Given the description of an element on the screen output the (x, y) to click on. 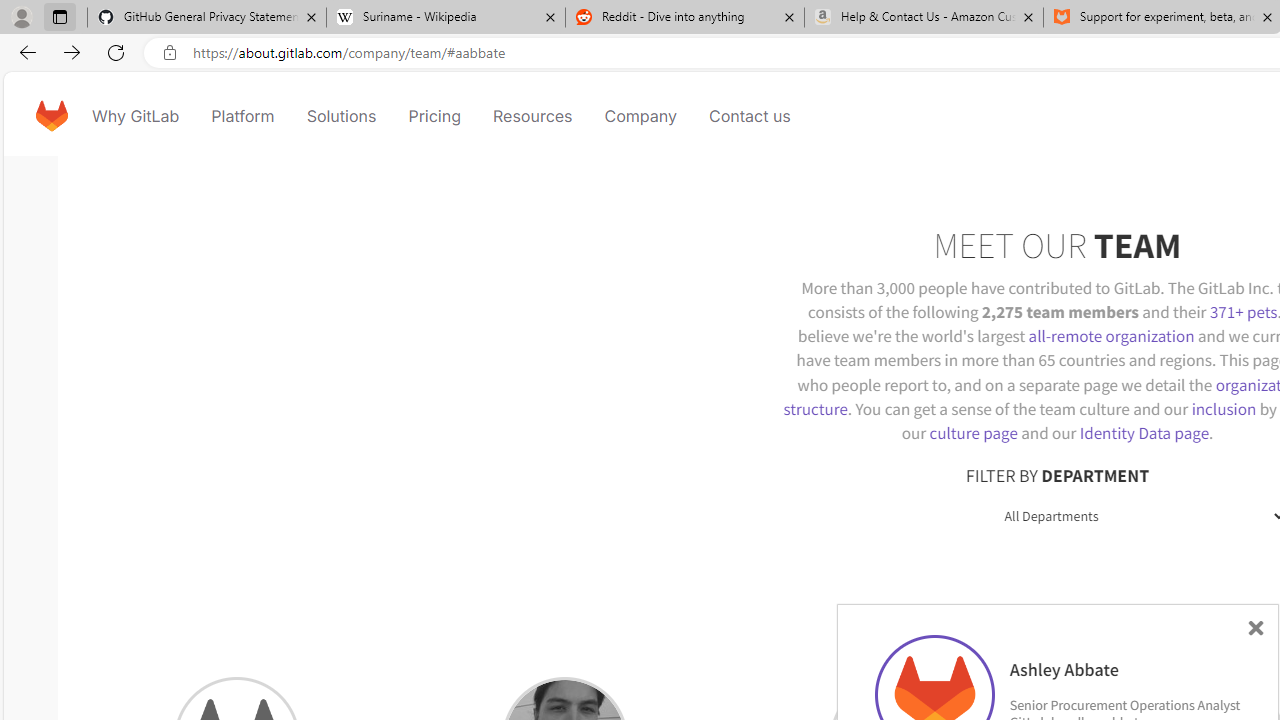
Pricing (433, 115)
Senior Procurement Operations Analyst (1124, 704)
GitLab home page (51, 115)
Company (640, 115)
culture page (973, 432)
Company (640, 115)
Resources (532, 115)
Platform (242, 115)
371+ pets (1243, 311)
GitHub General Privacy Statement - GitHub Docs (207, 17)
Contact us (749, 115)
